Given the description of an element on the screen output the (x, y) to click on. 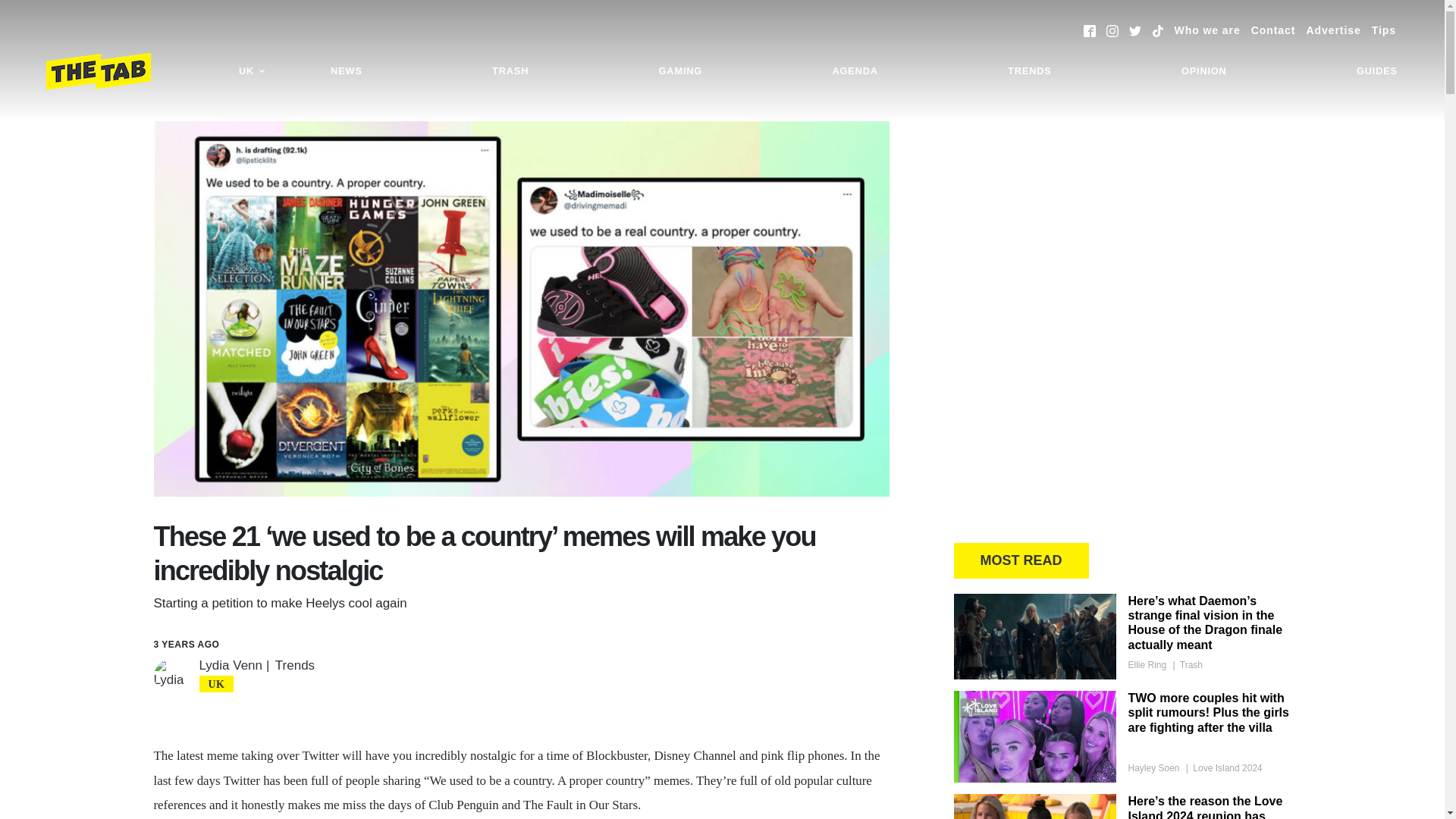
Contact (1272, 29)
TRENDS (1028, 71)
AGENDA (854, 71)
TRASH (510, 71)
NEWS (346, 71)
Who we are (1207, 29)
UK (252, 71)
GUIDES (1377, 71)
Advertise (1332, 29)
OPINION (1204, 71)
Tips (1383, 29)
GAMING (680, 71)
